Given the description of an element on the screen output the (x, y) to click on. 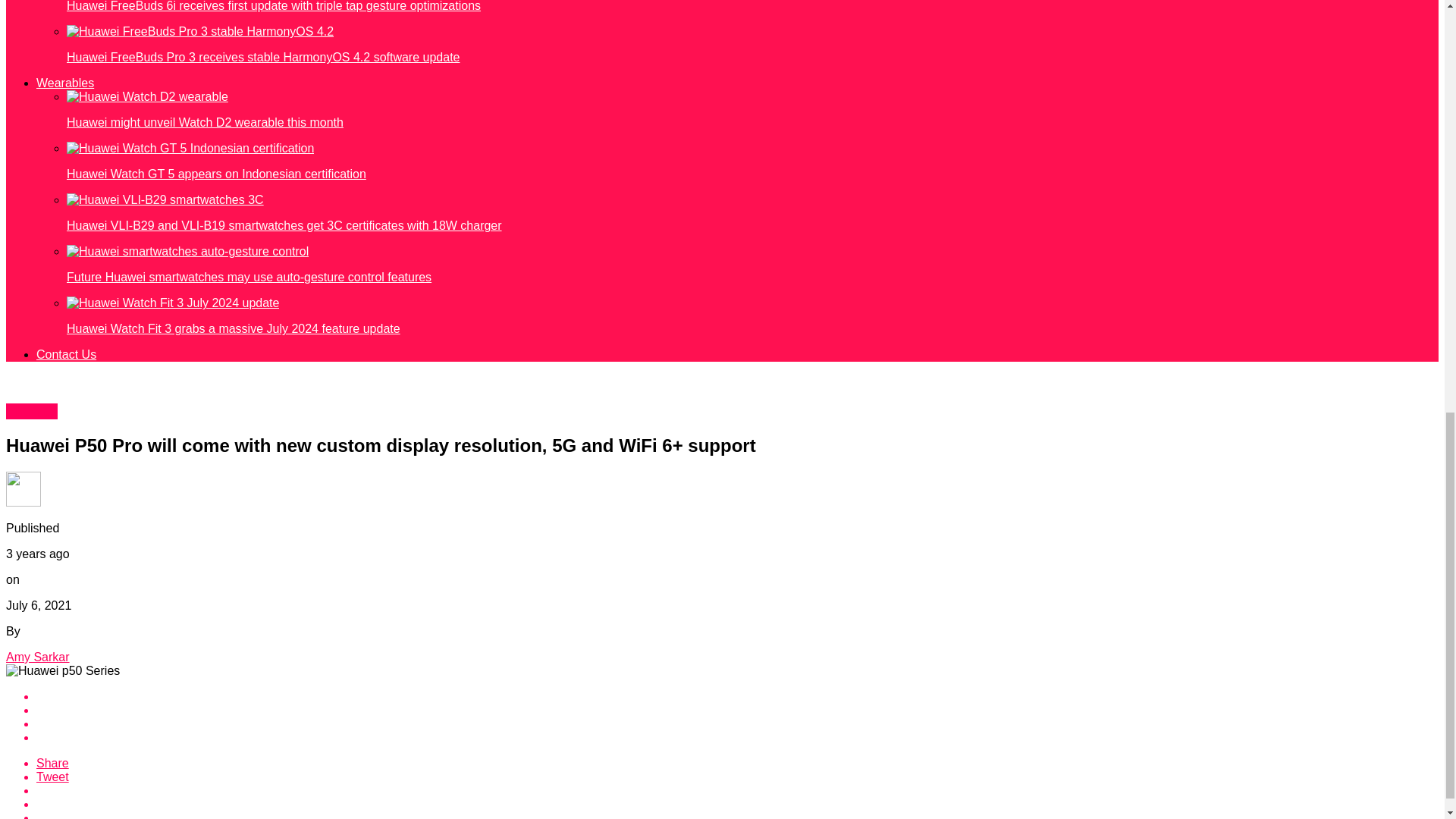
Posts by Amy Sarkar (37, 656)
